Given the description of an element on the screen output the (x, y) to click on. 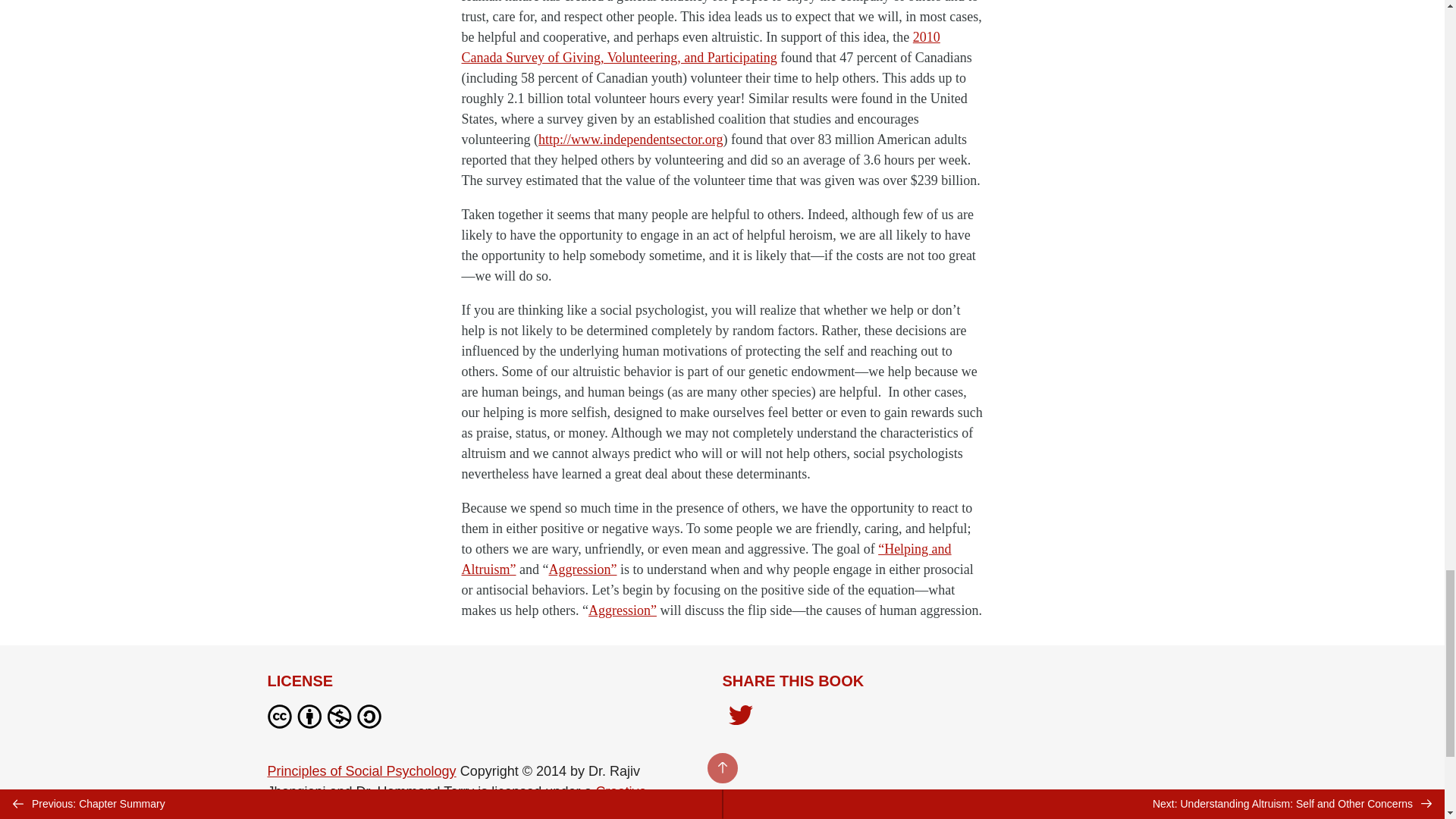
Share on Twitter (740, 716)
Share on Twitter (740, 718)
Principles of Social Psychology (360, 770)
